Given the description of an element on the screen output the (x, y) to click on. 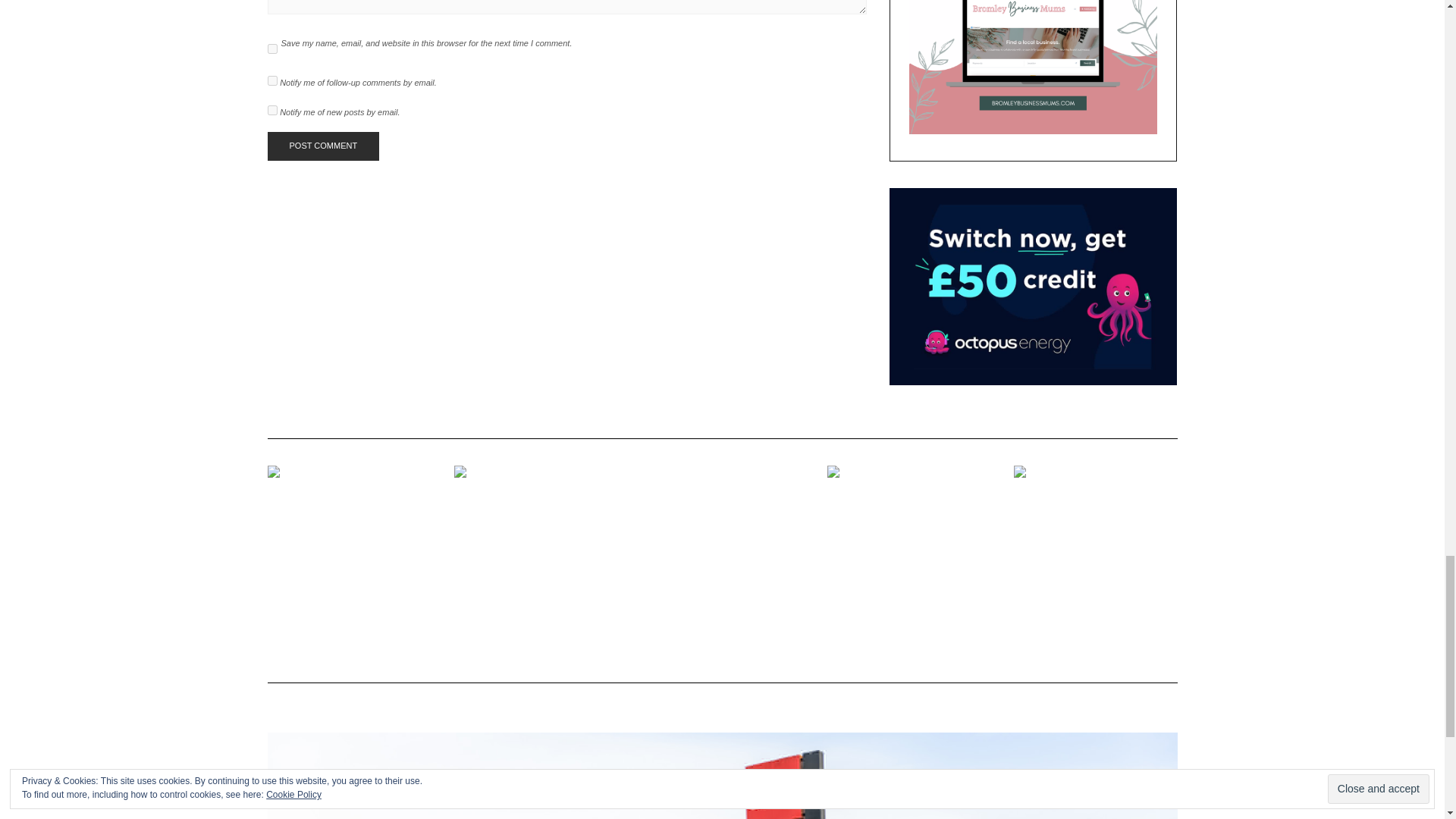
yes (271, 49)
Post Comment (322, 145)
Post Comment (322, 145)
subscribe (271, 80)
subscribe (271, 110)
